Given the description of an element on the screen output the (x, y) to click on. 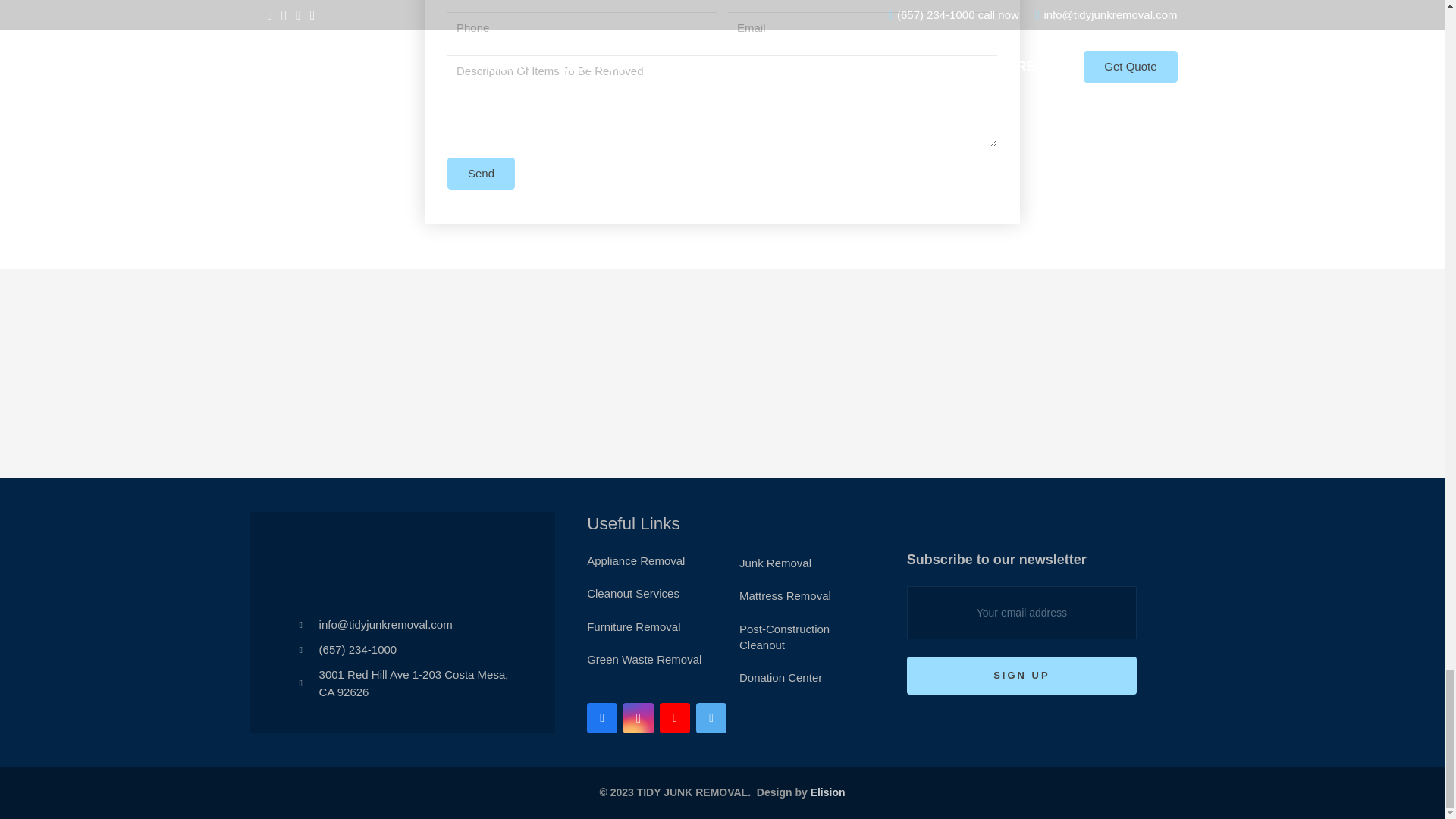
Sign up (1022, 675)
Facebook (601, 717)
Instagram (638, 717)
Twitter (710, 717)
YouTube (674, 717)
